Given the description of an element on the screen output the (x, y) to click on. 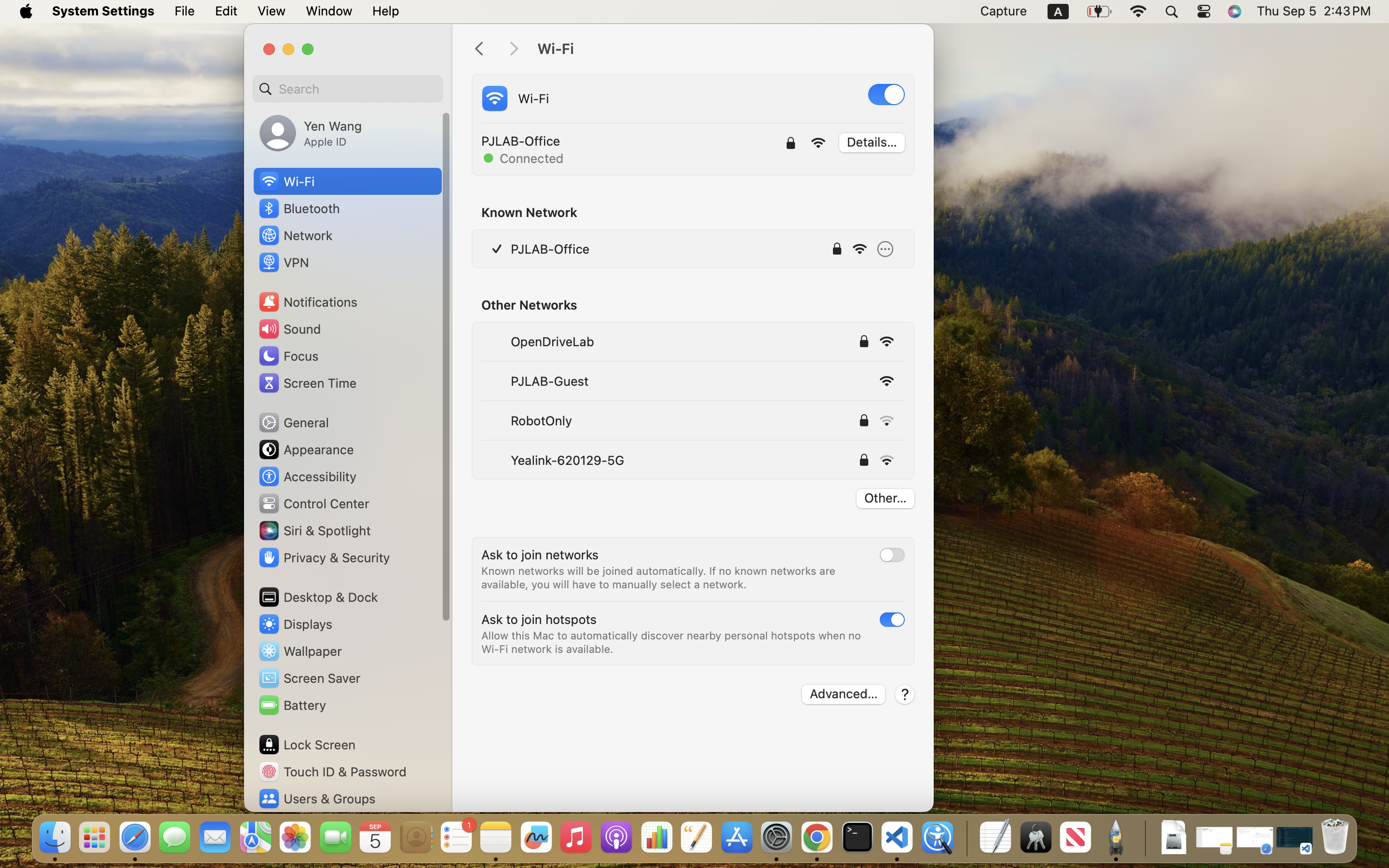
Sound Element type: AXStaticText (289, 328)
Control Center Element type: AXStaticText (313, 503)
0.4285714328289032 Element type: AXDockItem (965, 837)
Battery Element type: AXStaticText (291, 704)
General Element type: AXStaticText (292, 422)
